Given the description of an element on the screen output the (x, y) to click on. 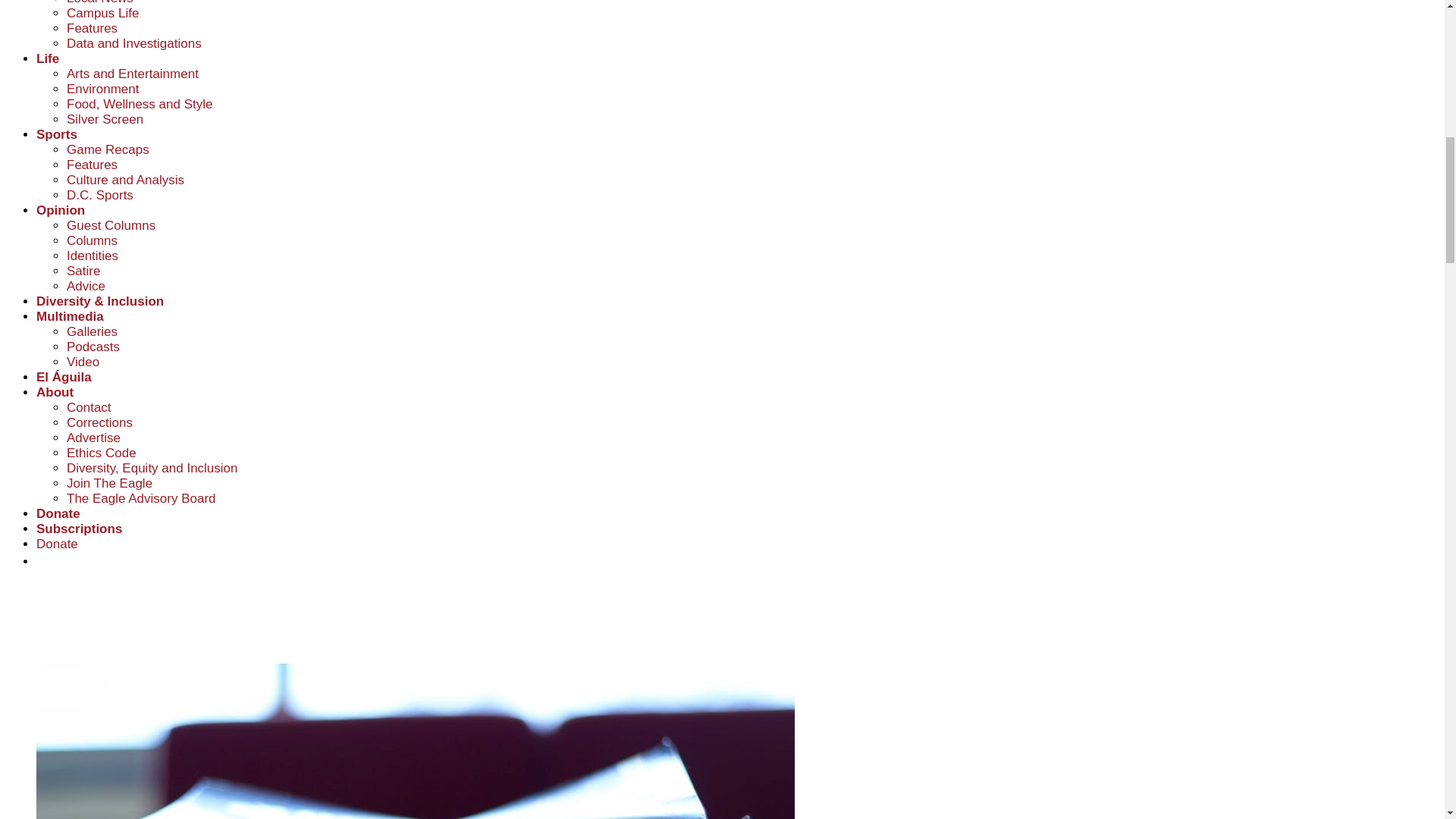
Donate (58, 513)
Donate (57, 544)
Subscriptions (79, 528)
